Given the description of an element on the screen output the (x, y) to click on. 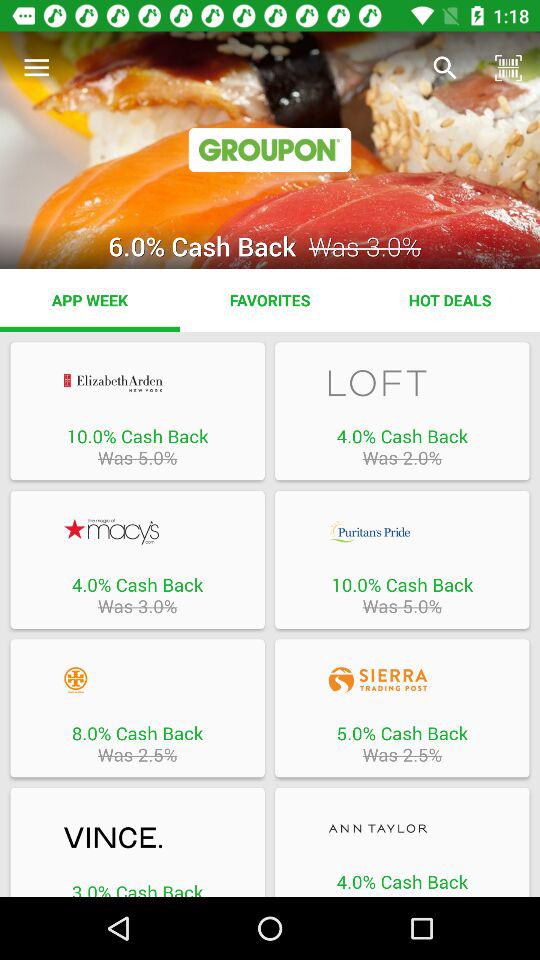
select ann taylor groupon (402, 828)
